Given the description of an element on the screen output the (x, y) to click on. 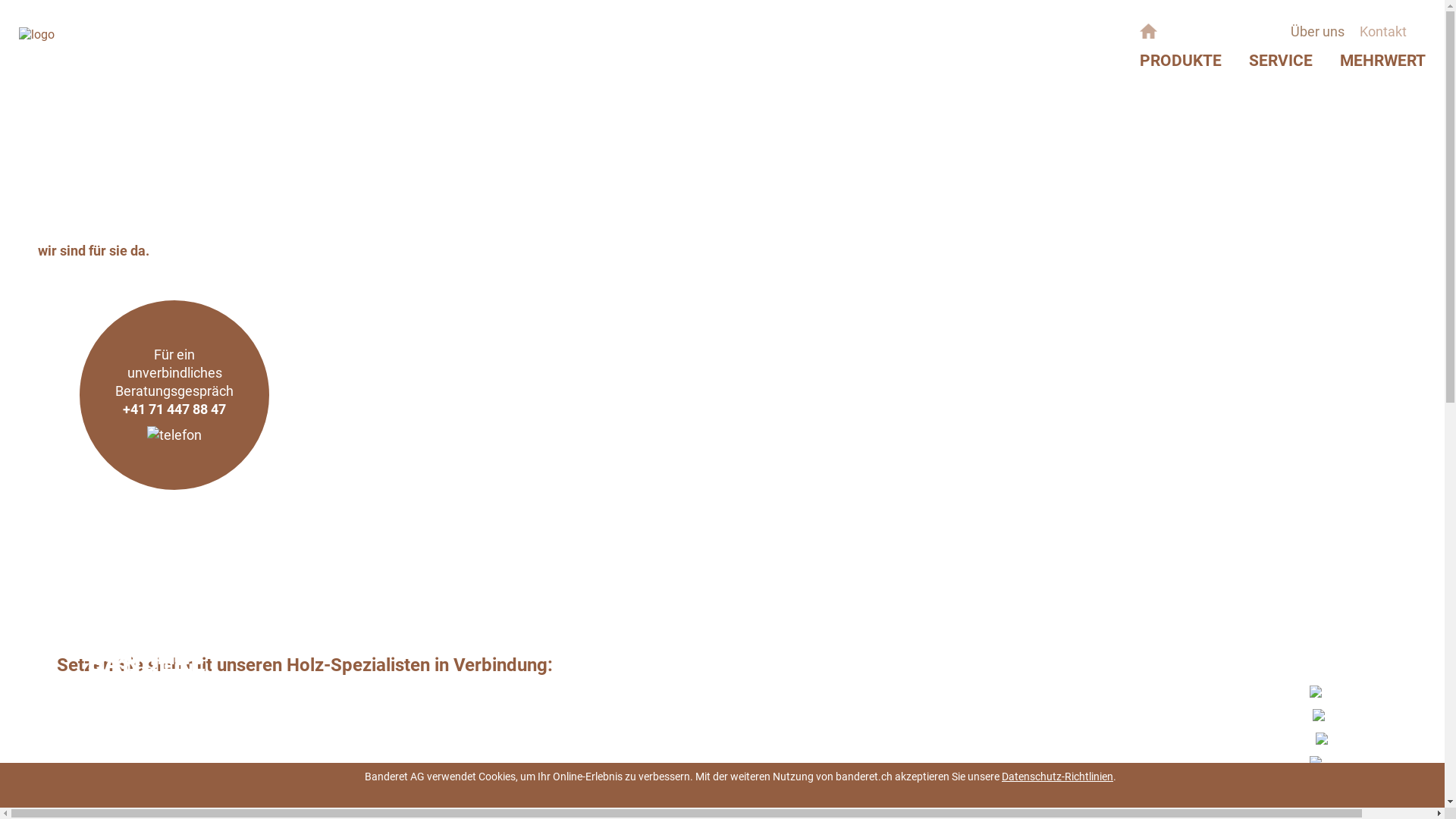
Datenschutz-Richtlinien Element type: text (1057, 776)
PRODUKTE Element type: text (1180, 59)
SERVICE Element type: text (1280, 59)
MEHRWERT Element type: text (1382, 59)
Kontakt Element type: text (1382, 31)
